Given the description of an element on the screen output the (x, y) to click on. 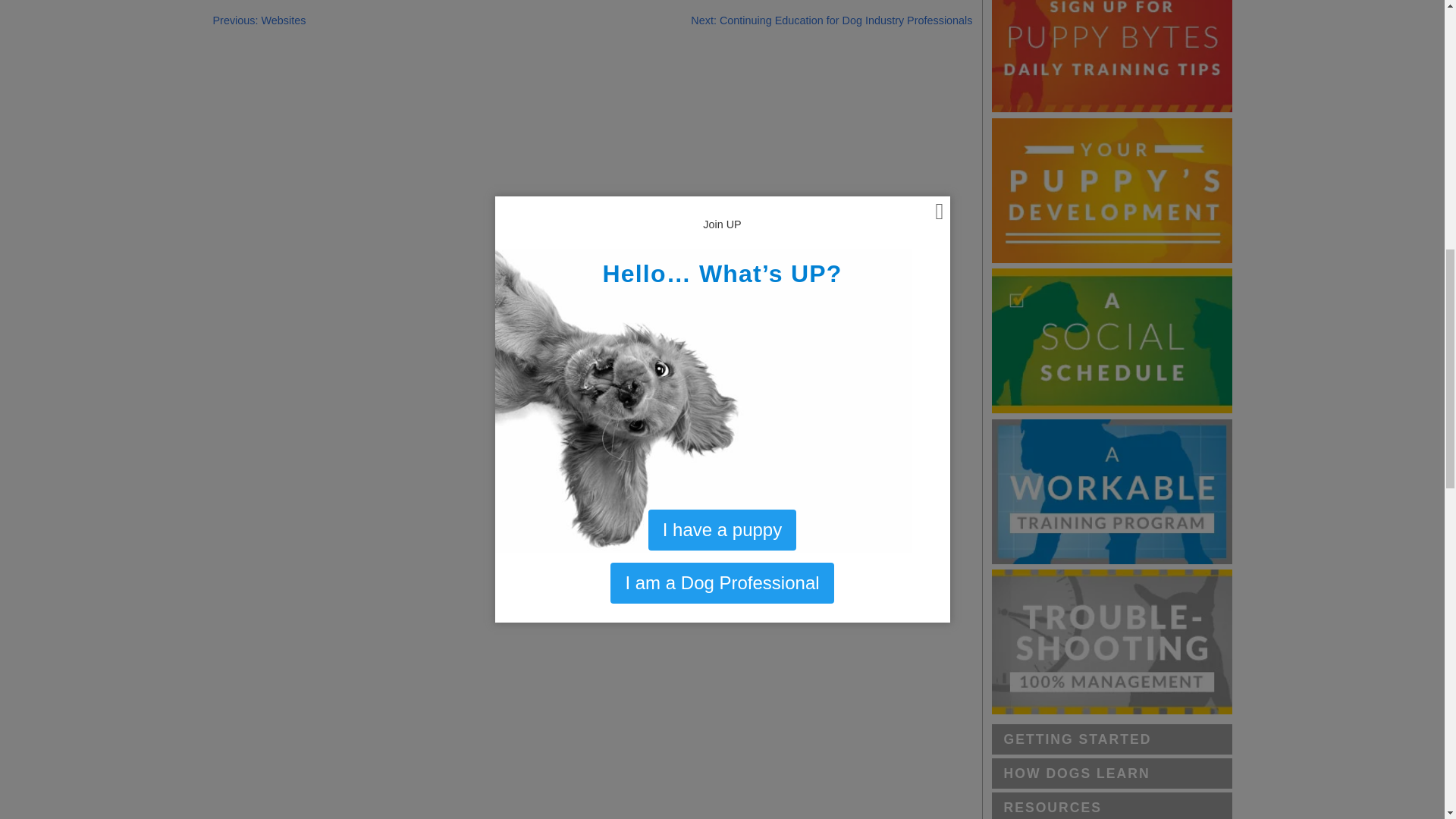
Sign up for puppy bytes daily training tips (1111, 56)
Continuing Education for Dog Industry Professionals (831, 20)
A Social Schedule (1111, 340)
Your puppy's development (1111, 189)
Websites (258, 20)
Previous: Websites (258, 20)
A Workable Training Program (1111, 491)
Next: Continuing Education for Dog Industry Professionals (831, 20)
